Given the description of an element on the screen output the (x, y) to click on. 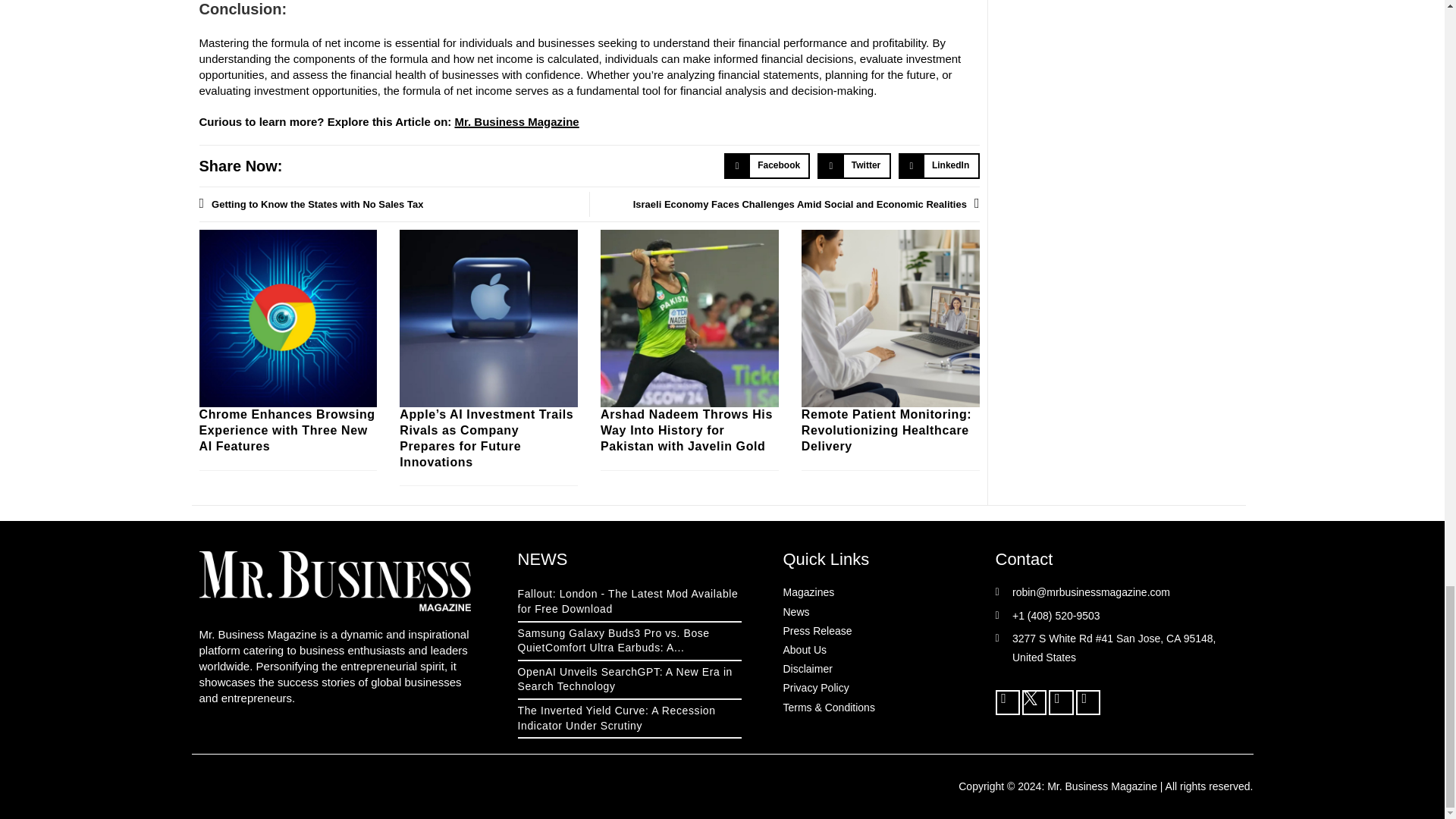
Getting to Know the States with No Sales Tax (393, 203)
Mr. Business Magazine (516, 121)
